Given the description of an element on the screen output the (x, y) to click on. 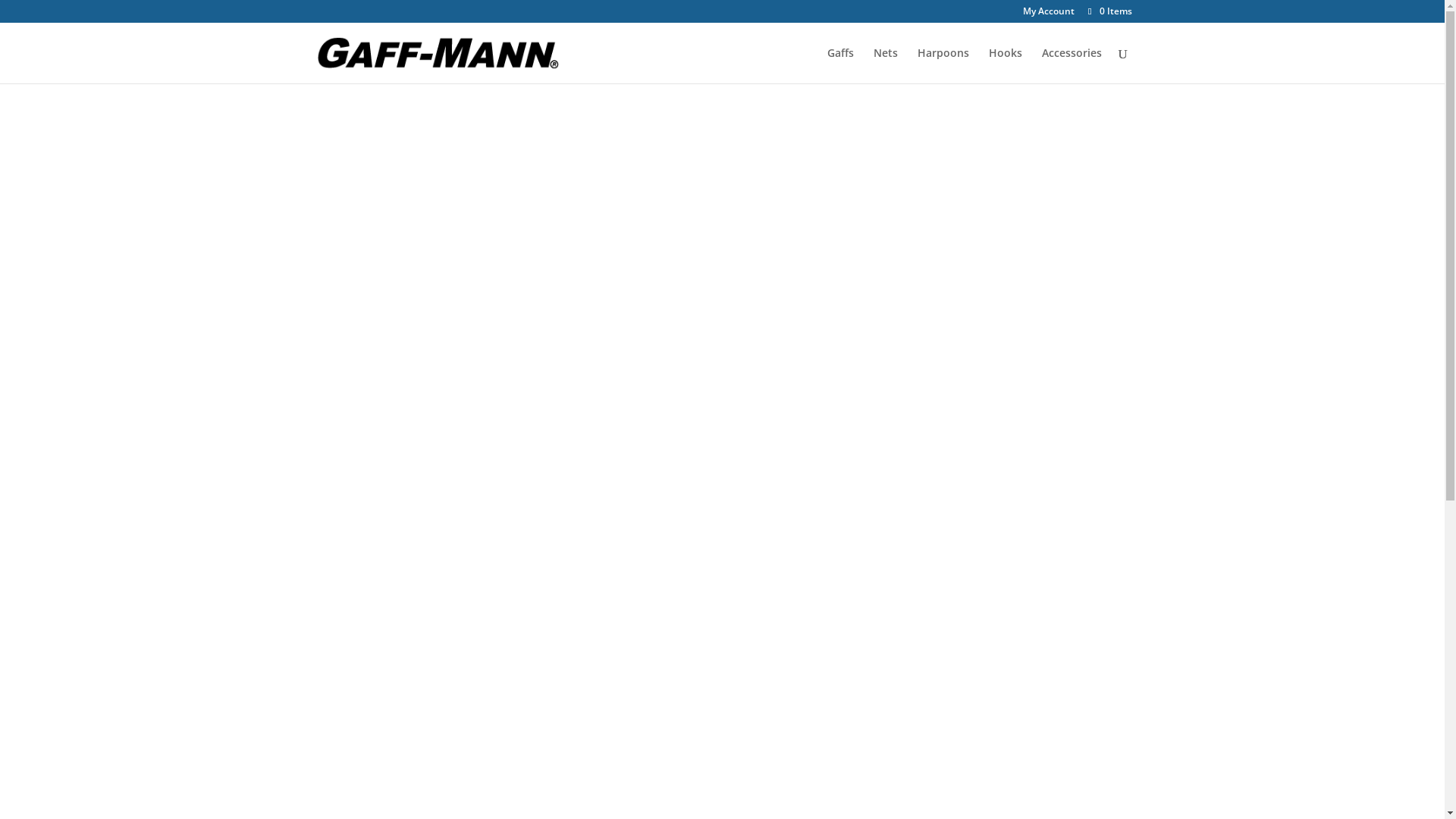
My Account Element type: text (1048, 14)
Hooks Element type: text (1005, 65)
Accessories Element type: text (1071, 65)
Nets Element type: text (885, 65)
Harpoons Element type: text (943, 65)
0 Items Element type: text (1108, 10)
Gaffs Element type: text (839, 65)
